Given the description of an element on the screen output the (x, y) to click on. 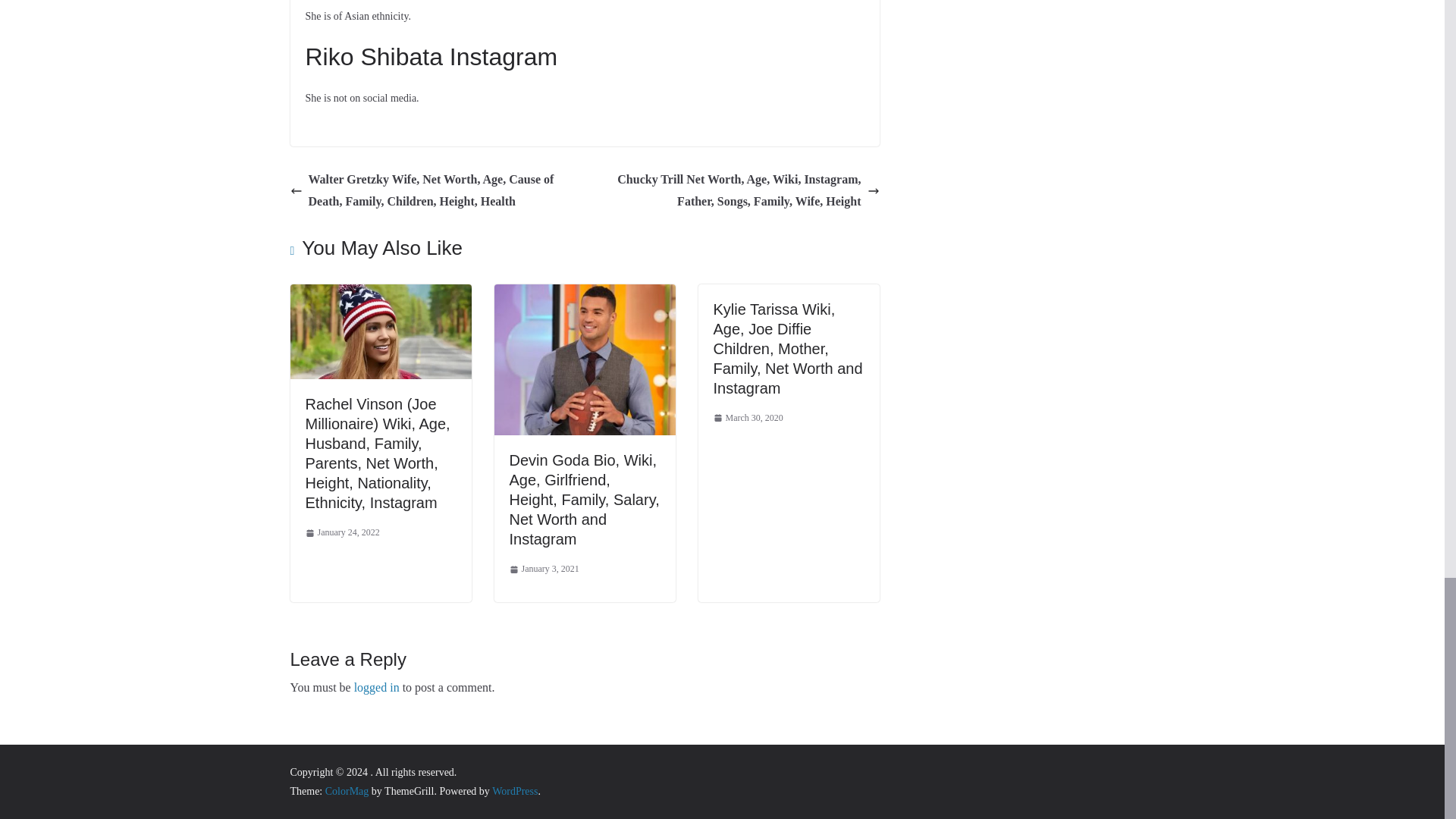
March 30, 2020 (748, 418)
1:44 am (341, 532)
January 24, 2022 (341, 532)
January 3, 2021 (544, 569)
logged in (375, 686)
